Given the description of an element on the screen output the (x, y) to click on. 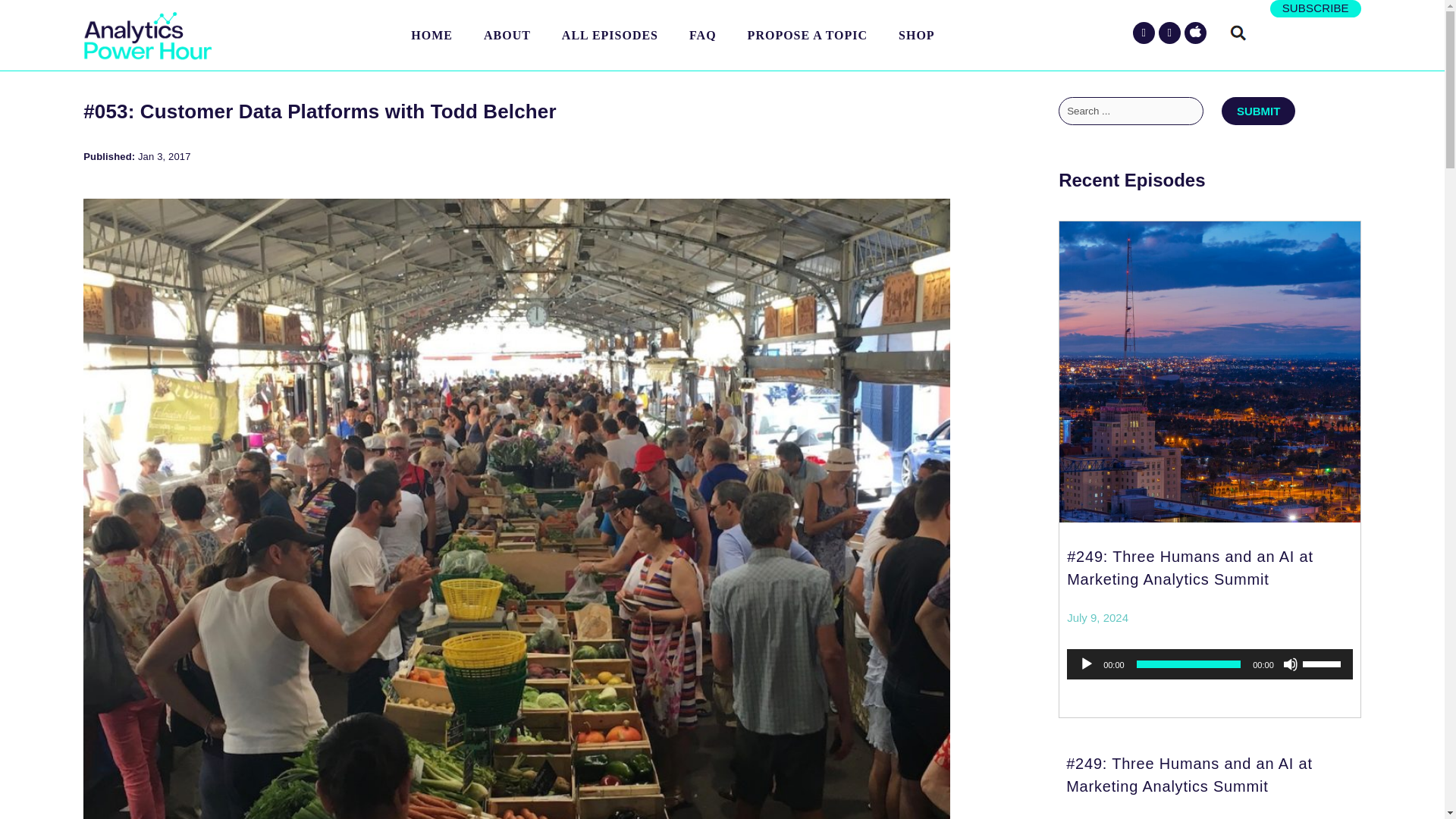
The Analytics Power Hour: Data and Analytics Podcast (147, 35)
Home (431, 34)
HOME (431, 34)
Propose a Topic (807, 34)
FAQ (703, 34)
Shop (916, 34)
ABOUT (507, 34)
All Episodes (609, 34)
PROPOSE A TOPIC (807, 34)
Subscribe (1315, 8)
SUBSCRIBE (1315, 8)
Search ... (1131, 111)
ALL EPISODES (609, 34)
Submit (1258, 111)
FAQ (703, 34)
